Given the description of an element on the screen output the (x, y) to click on. 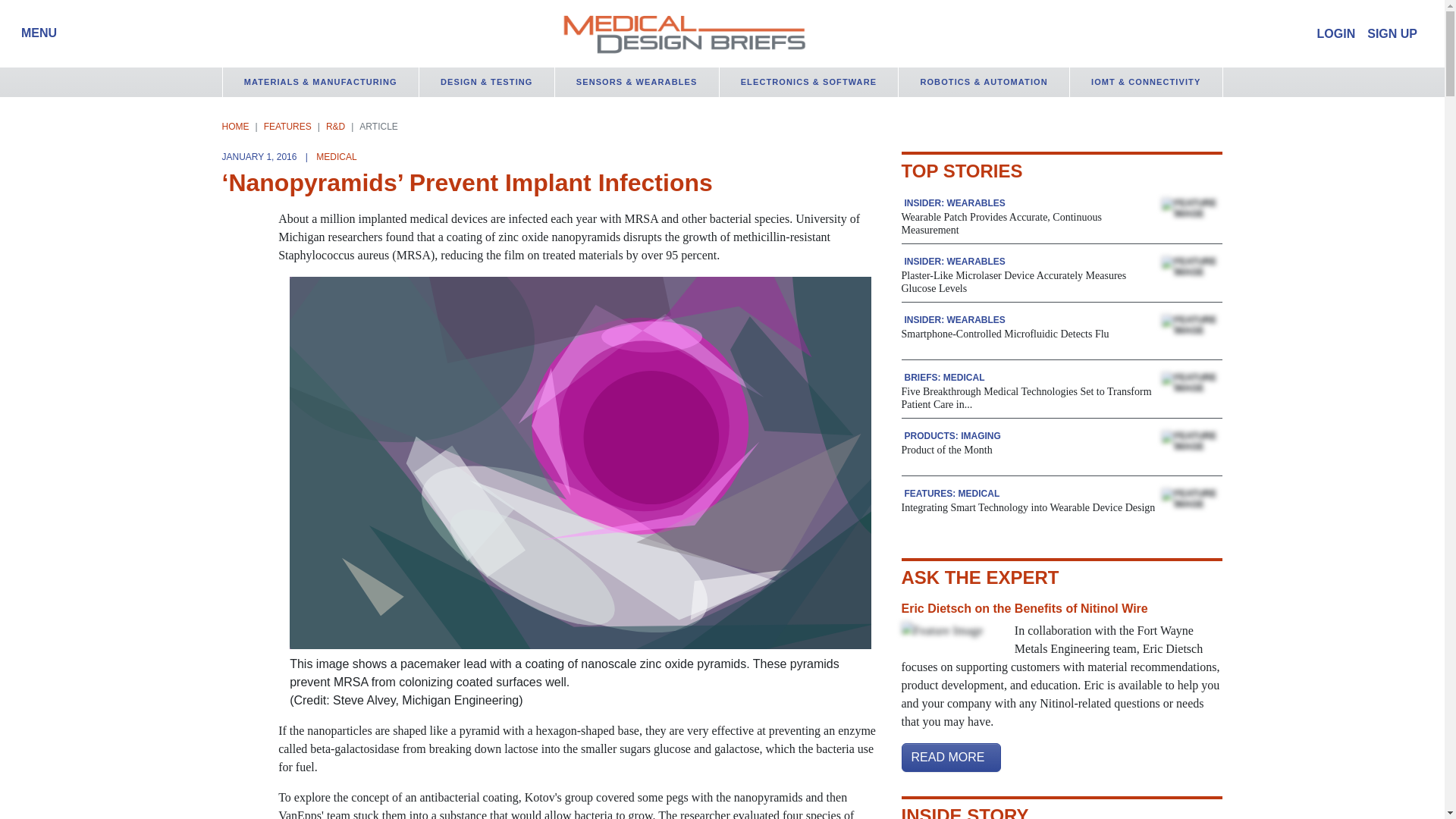
SIGN UP (1392, 32)
LOGIN (1336, 32)
MENU (35, 33)
